Given the description of an element on the screen output the (x, y) to click on. 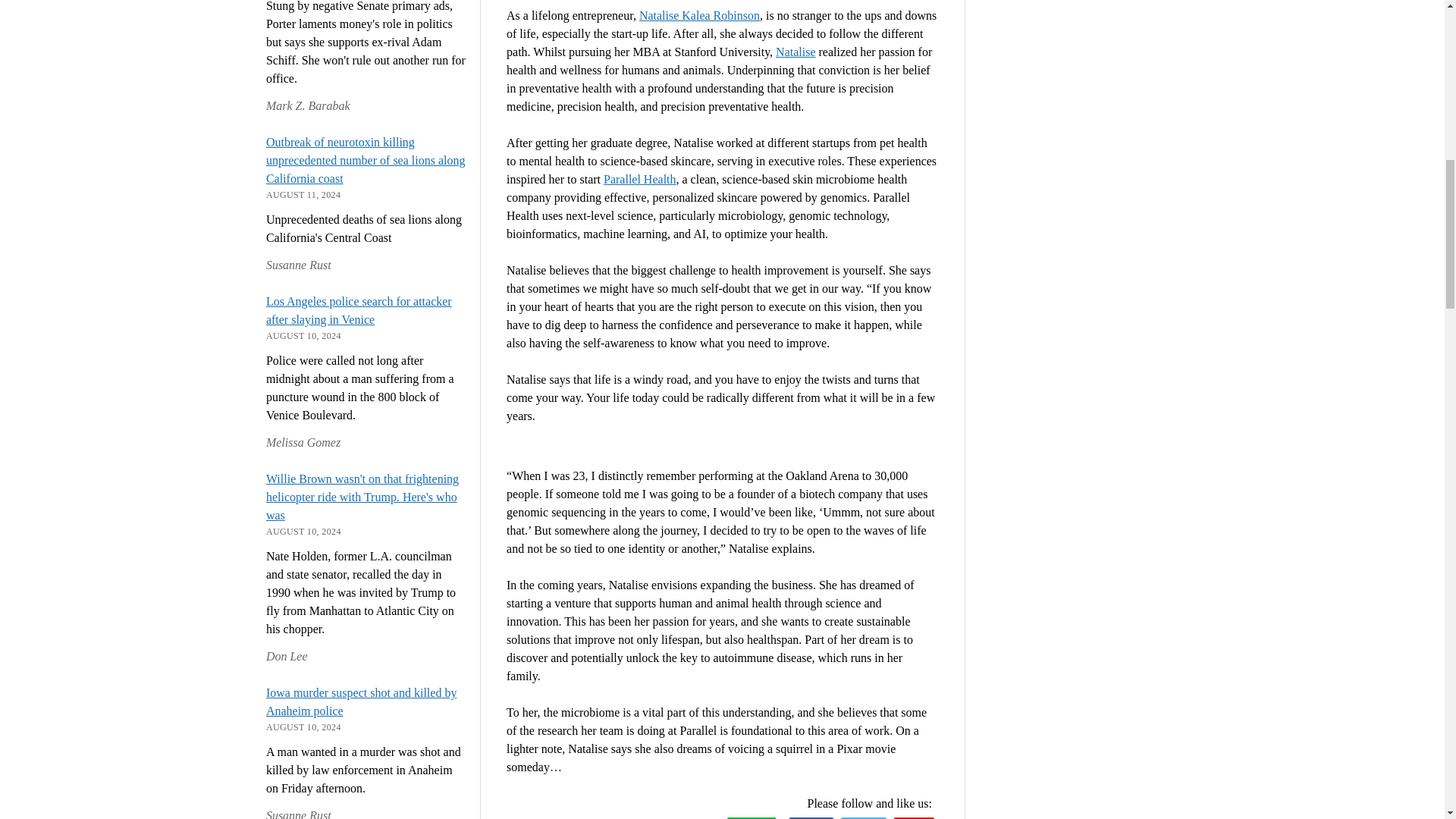
Pin Share (913, 818)
Facebook Share (811, 818)
Iowa murder suspect shot and killed by Anaheim police (361, 701)
Tweet (863, 818)
